Given the description of an element on the screen output the (x, y) to click on. 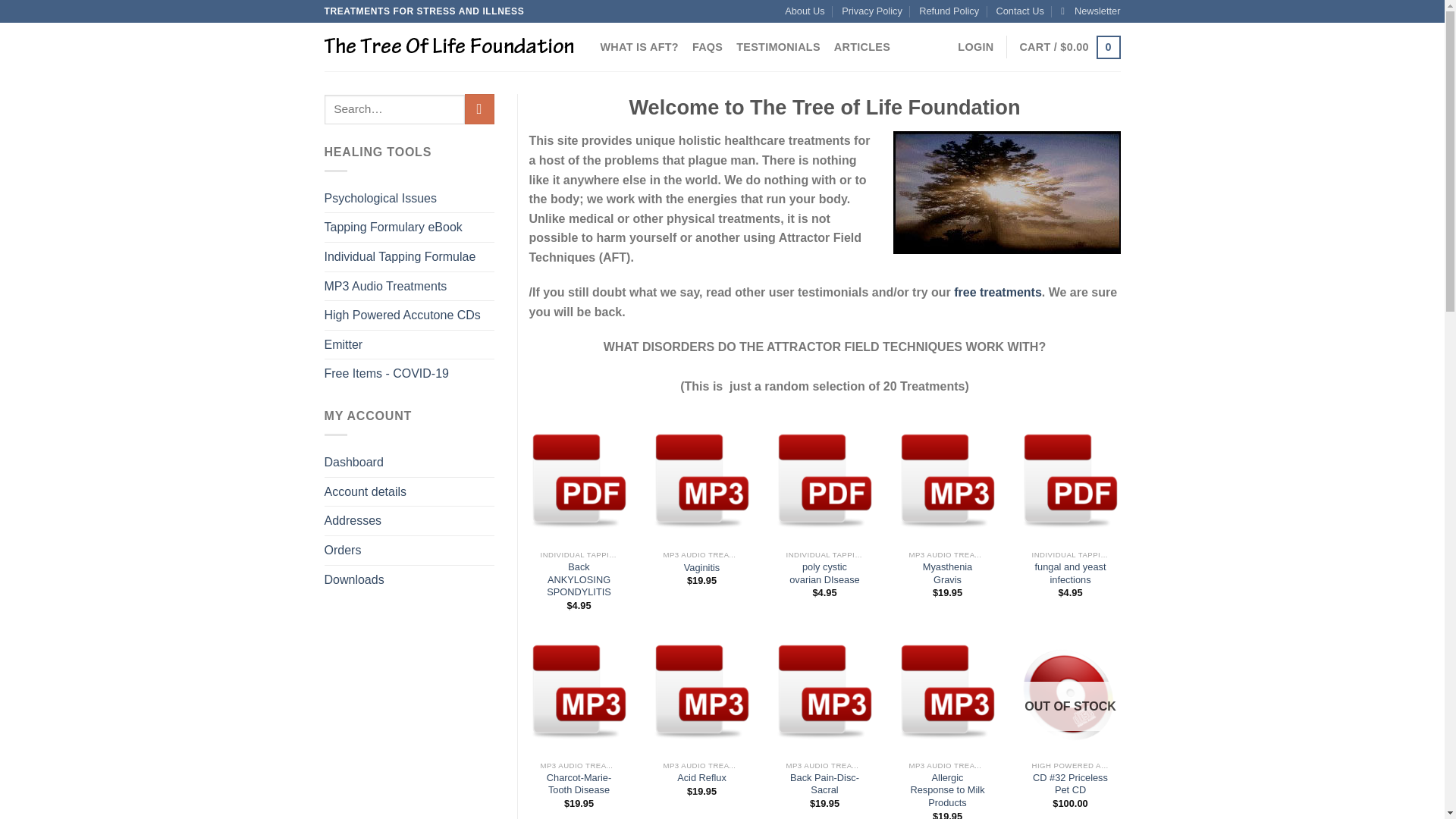
Sign up for Newsletter (1090, 11)
About Us (804, 11)
Contact Us (1019, 11)
Newsletter (1090, 11)
Cart (1069, 46)
TESTIMONIALS (778, 46)
WHAT IS AFT? (638, 46)
Myasthenia Gravis (946, 573)
Back ANKYLOSING SPONDYLITIS (578, 579)
poly cystic ovarian DIsease (824, 573)
